Given the description of an element on the screen output the (x, y) to click on. 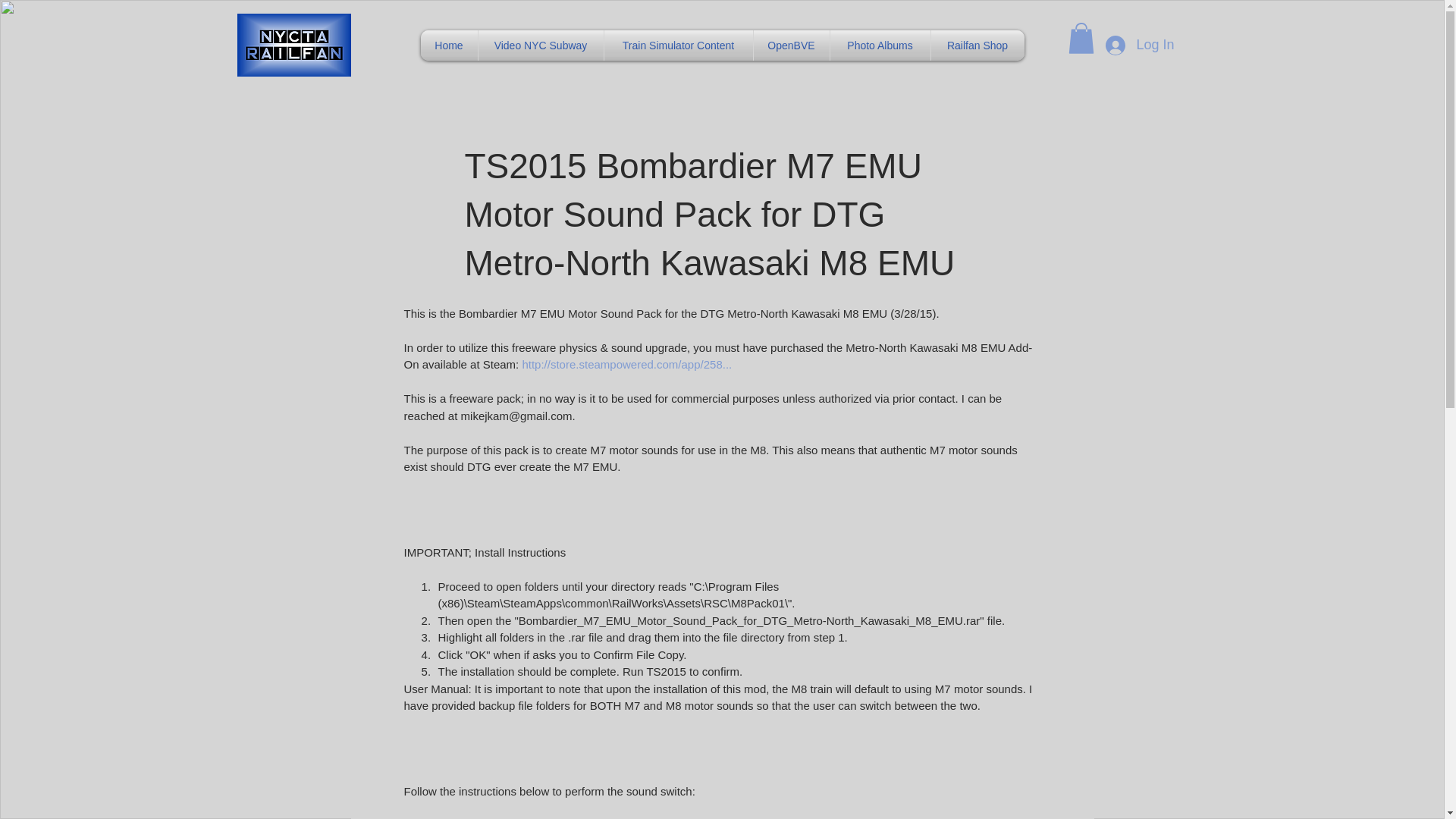
Home (448, 45)
Video NYC Subway (539, 45)
Railfan Shop (978, 45)
Log In (1139, 45)
Photo Albums (879, 45)
